Given the description of an element on the screen output the (x, y) to click on. 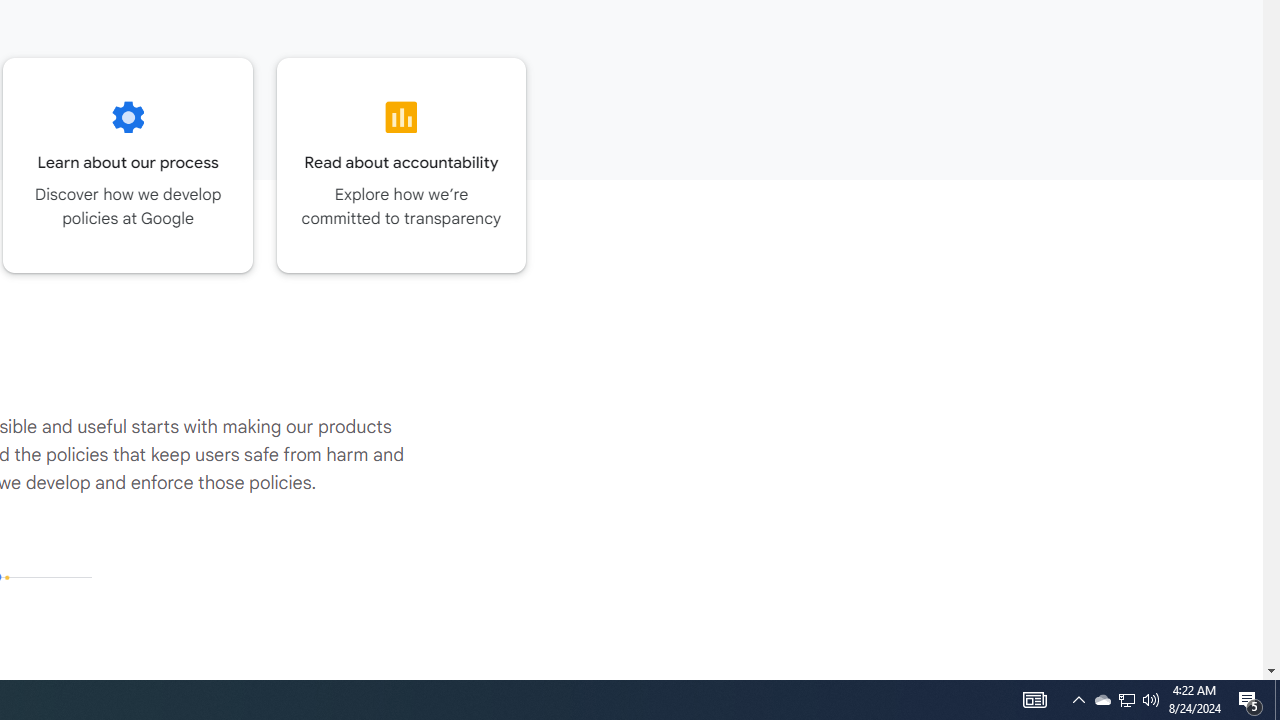
Go to the Accountability page (401, 165)
Go to the Our process page (127, 165)
